Given the description of an element on the screen output the (x, y) to click on. 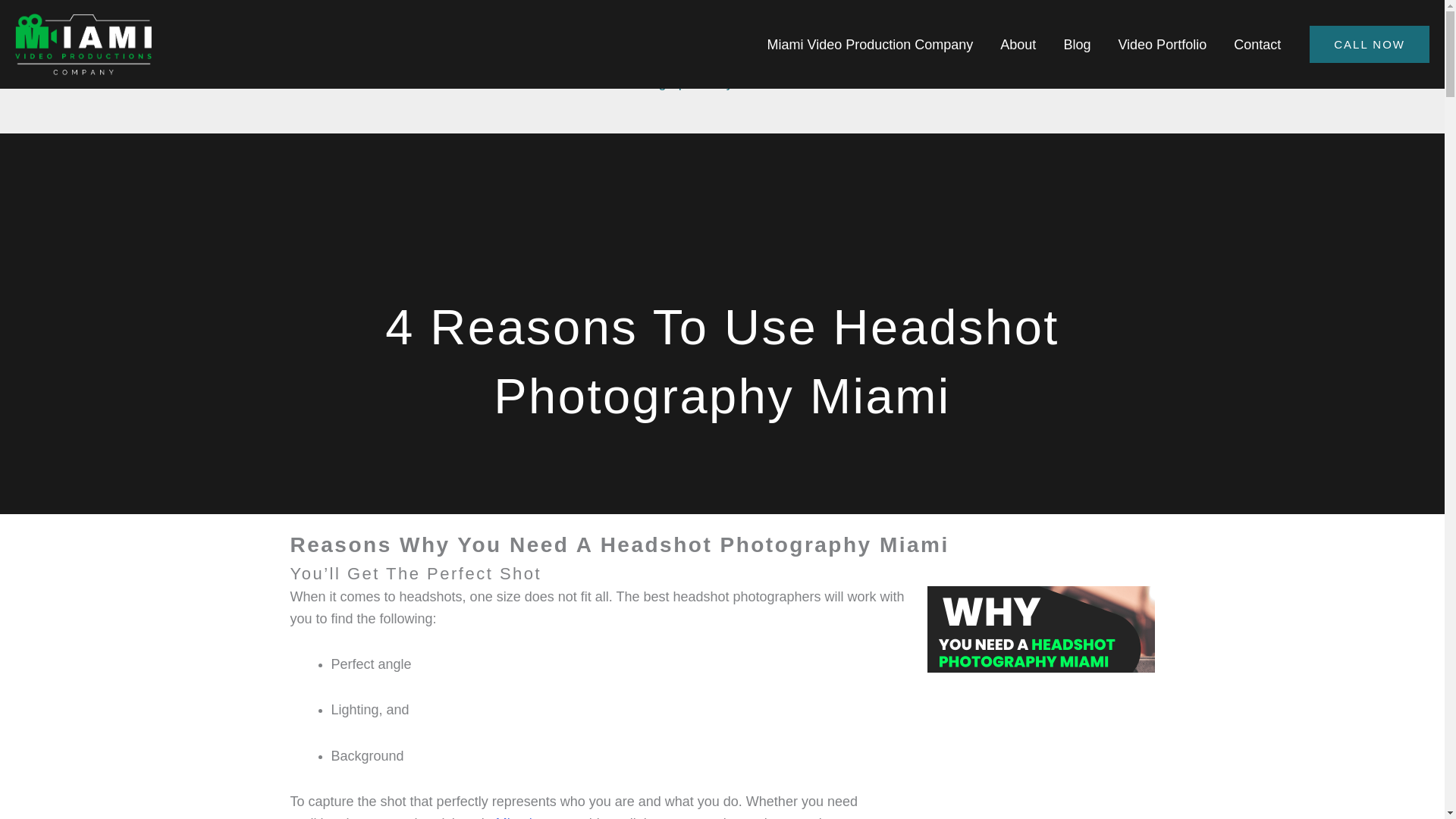
Blog (1076, 44)
Video Portfolio (1161, 44)
Contact (1257, 44)
Miami (514, 817)
Photographer (664, 82)
Miami Video Production Company (870, 44)
View all posts by Producer Team (782, 82)
CALL NOW (1368, 44)
About (1018, 44)
Producer Team (782, 82)
